Given the description of an element on the screen output the (x, y) to click on. 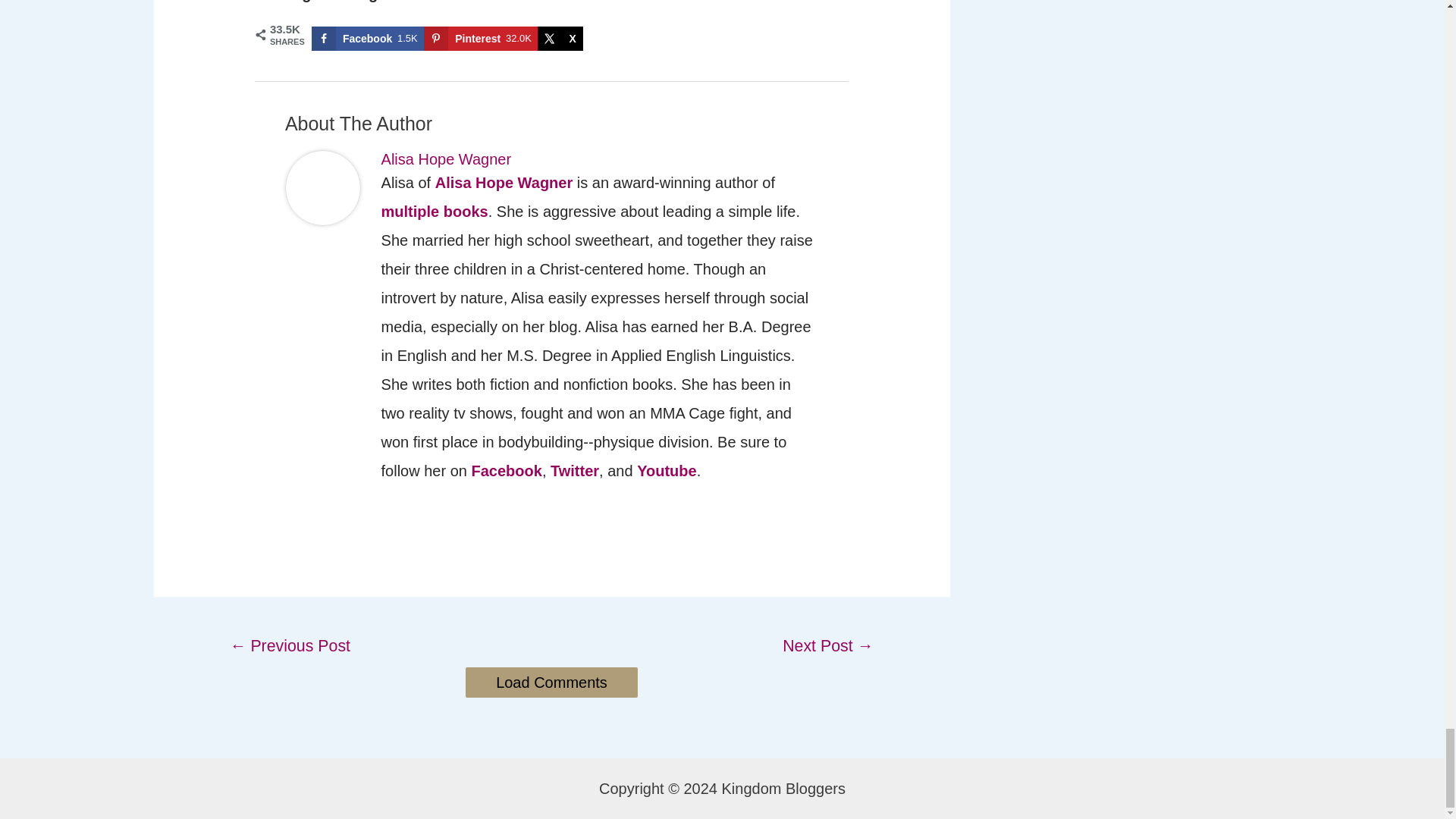
Save to Pinterest (480, 38)
Share on Facebook (367, 38)
Share on X (559, 38)
